Given the description of an element on the screen output the (x, y) to click on. 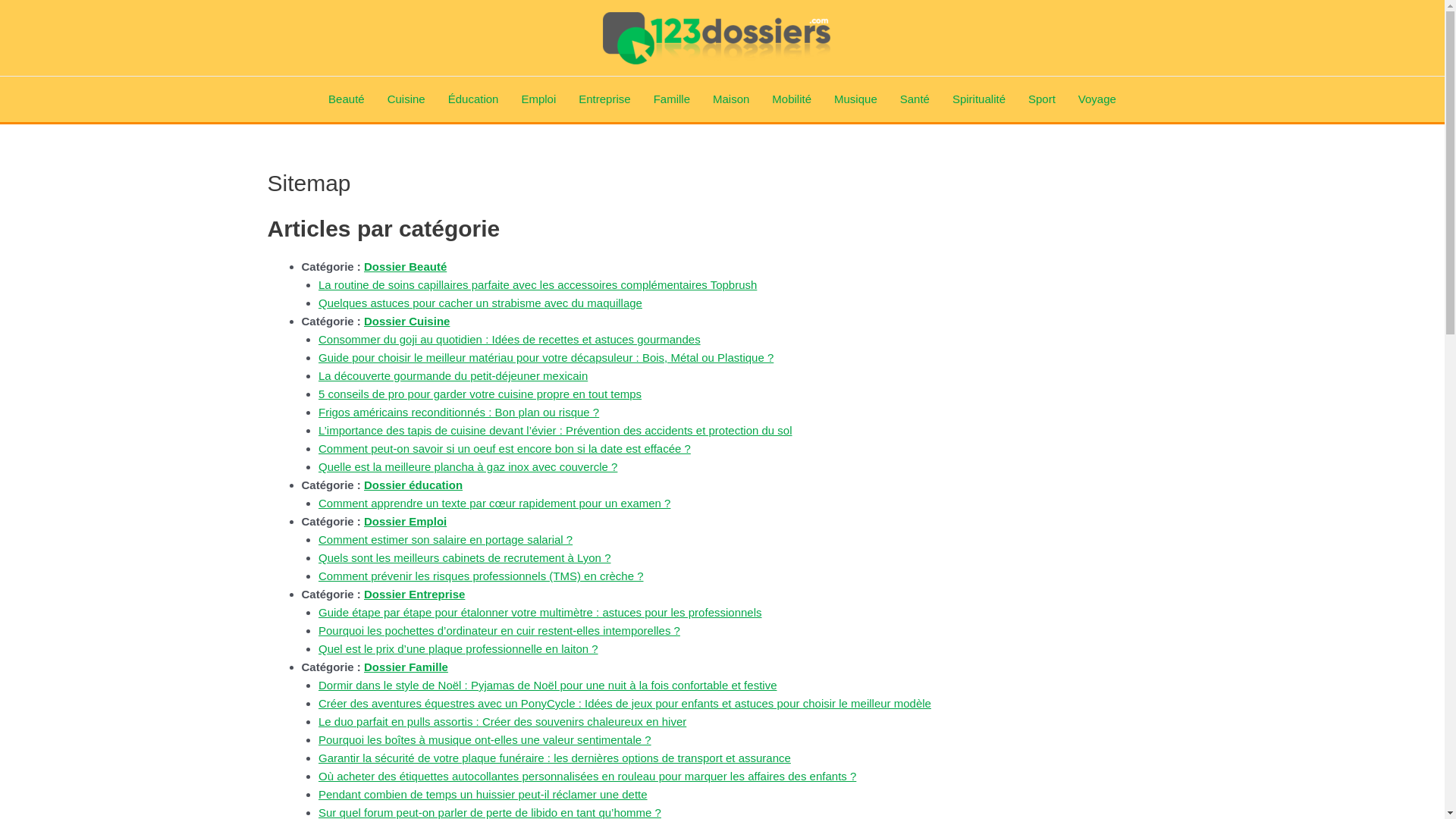
Entreprise Element type: text (604, 99)
Sport Element type: text (1041, 99)
Comment estimer son salaire en portage salarial ? Element type: text (445, 539)
Famille Element type: text (671, 99)
Dossier Entreprise Element type: text (414, 593)
Dossier Cuisine Element type: text (406, 320)
Cuisine Element type: text (406, 99)
Dossier Famille Element type: text (406, 666)
Emploi Element type: text (538, 99)
Dossier Emploi Element type: text (405, 520)
Musique Element type: text (855, 99)
Quelques astuces pour cacher un strabisme avec du maquillage Element type: text (480, 302)
Voyage Element type: text (1096, 99)
Maison Element type: text (730, 99)
